Given the description of an element on the screen output the (x, y) to click on. 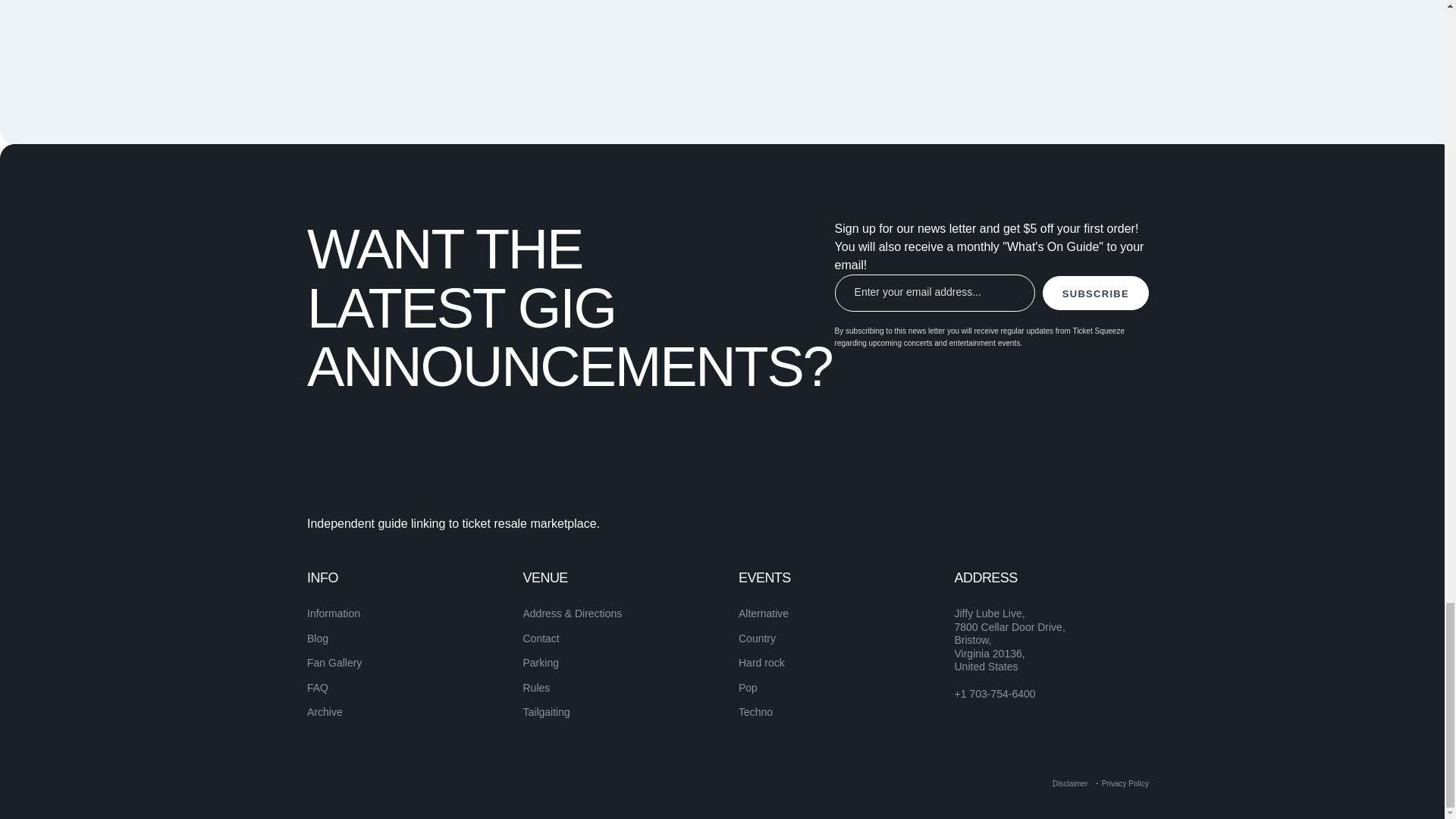
Fan Gallery (334, 662)
Techno (755, 711)
Rules (536, 687)
Privacy Policy (1125, 783)
Information (333, 613)
Parking (540, 662)
Blog (318, 638)
FAQ (318, 687)
Archive (324, 711)
Alternative (763, 613)
